Given the description of an element on the screen output the (x, y) to click on. 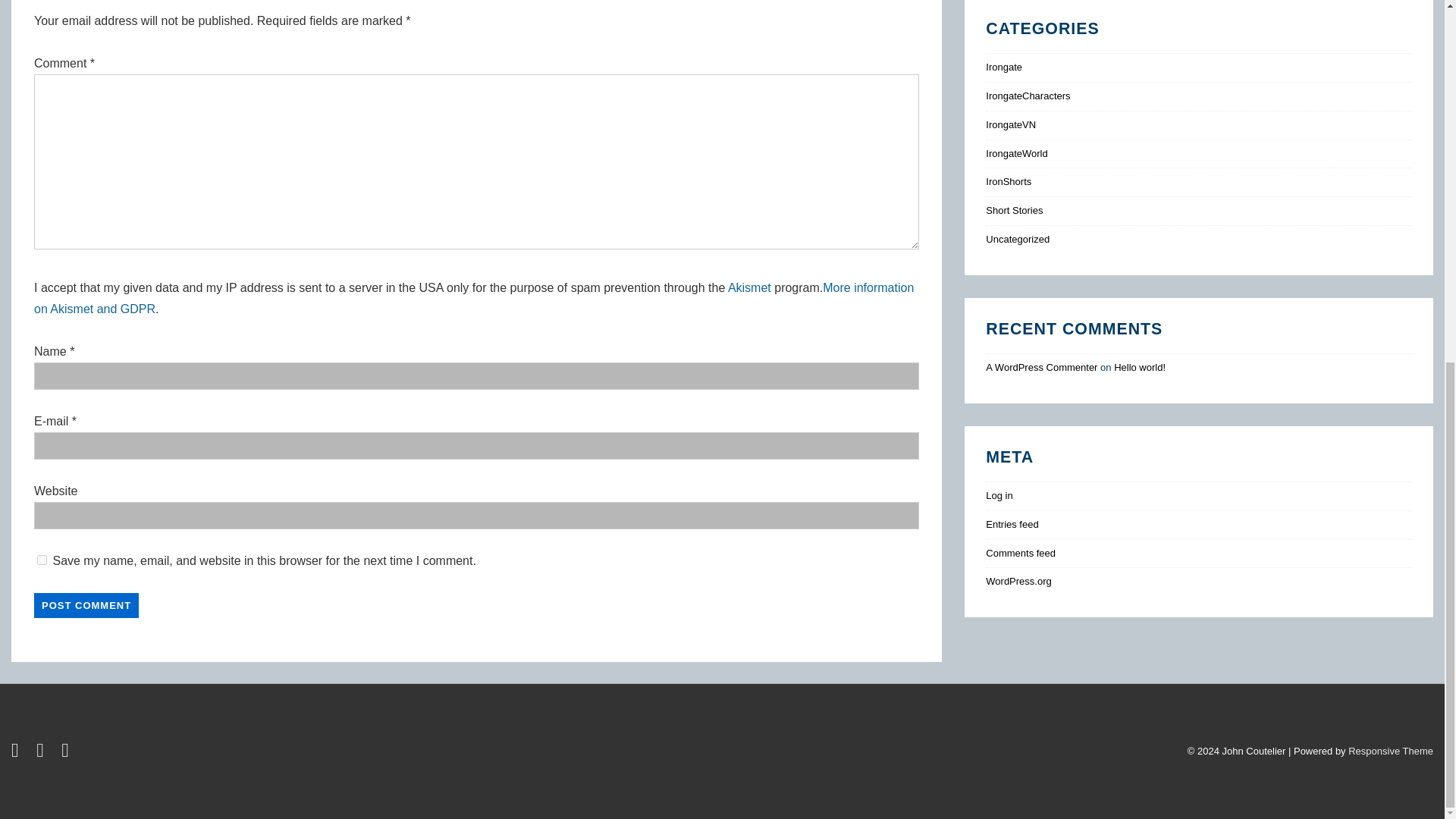
email (66, 752)
Short Stories (1013, 210)
Post Comment (85, 604)
IrongateCharacters (1027, 95)
More information on Akismet and GDPR (473, 298)
twitter (17, 752)
IrongateVN (1010, 124)
Post Comment (85, 604)
Uncategorized (1017, 238)
IronShorts (1007, 181)
Irongate (1003, 66)
IrongateWorld (1015, 153)
Akismet (749, 287)
youtube (42, 752)
yes (41, 559)
